Given the description of an element on the screen output the (x, y) to click on. 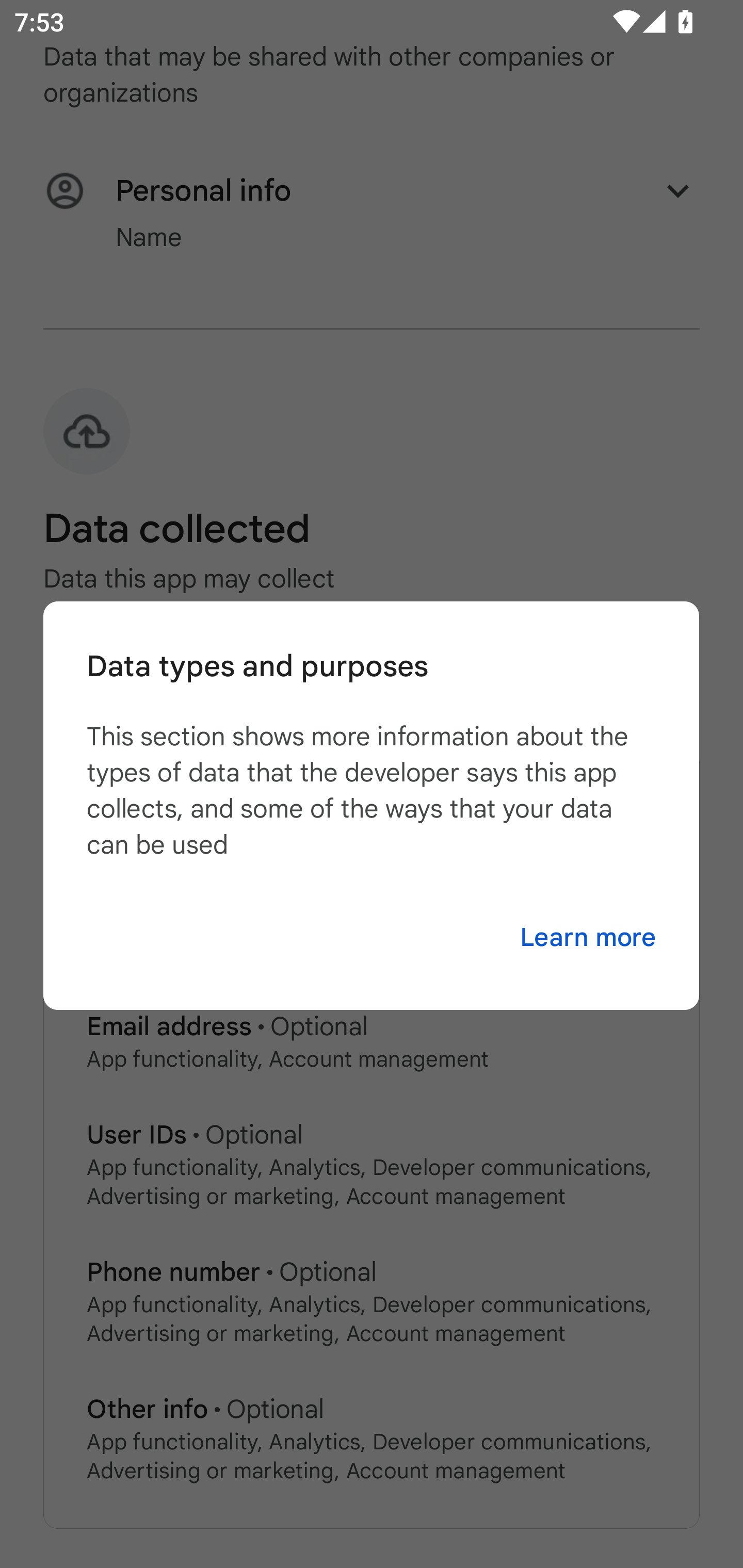
Learn more (588, 937)
